Given the description of an element on the screen output the (x, y) to click on. 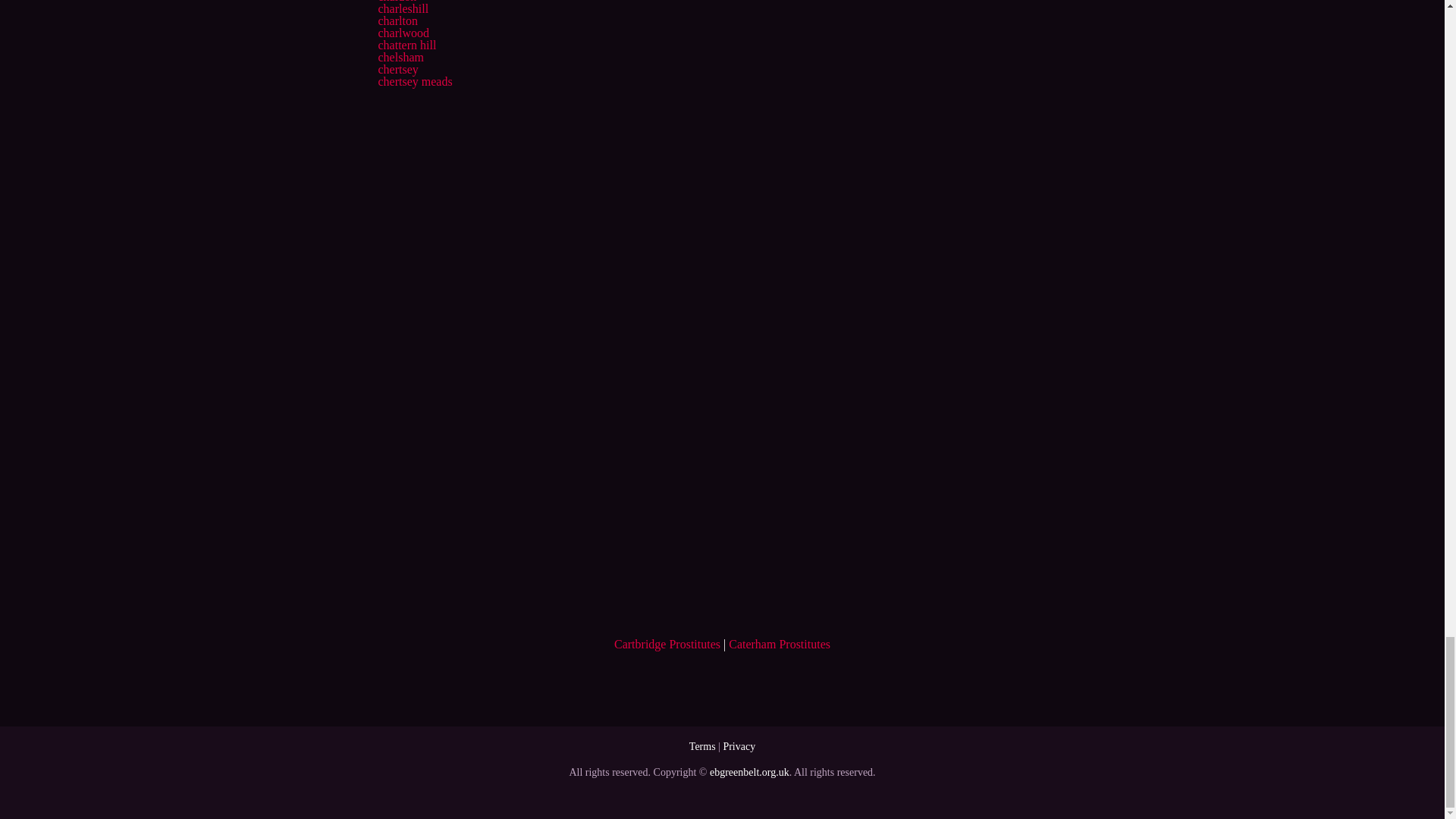
chelsham (400, 56)
chertsey (397, 69)
Caterham Prostitutes (779, 644)
ebgreenbelt.org.uk (749, 772)
Terms (702, 746)
Privacy (738, 746)
Cartbridge Prostitutes (667, 644)
chaldon (396, 1)
charlwood (403, 32)
Privacy (738, 746)
